Given the description of an element on the screen output the (x, y) to click on. 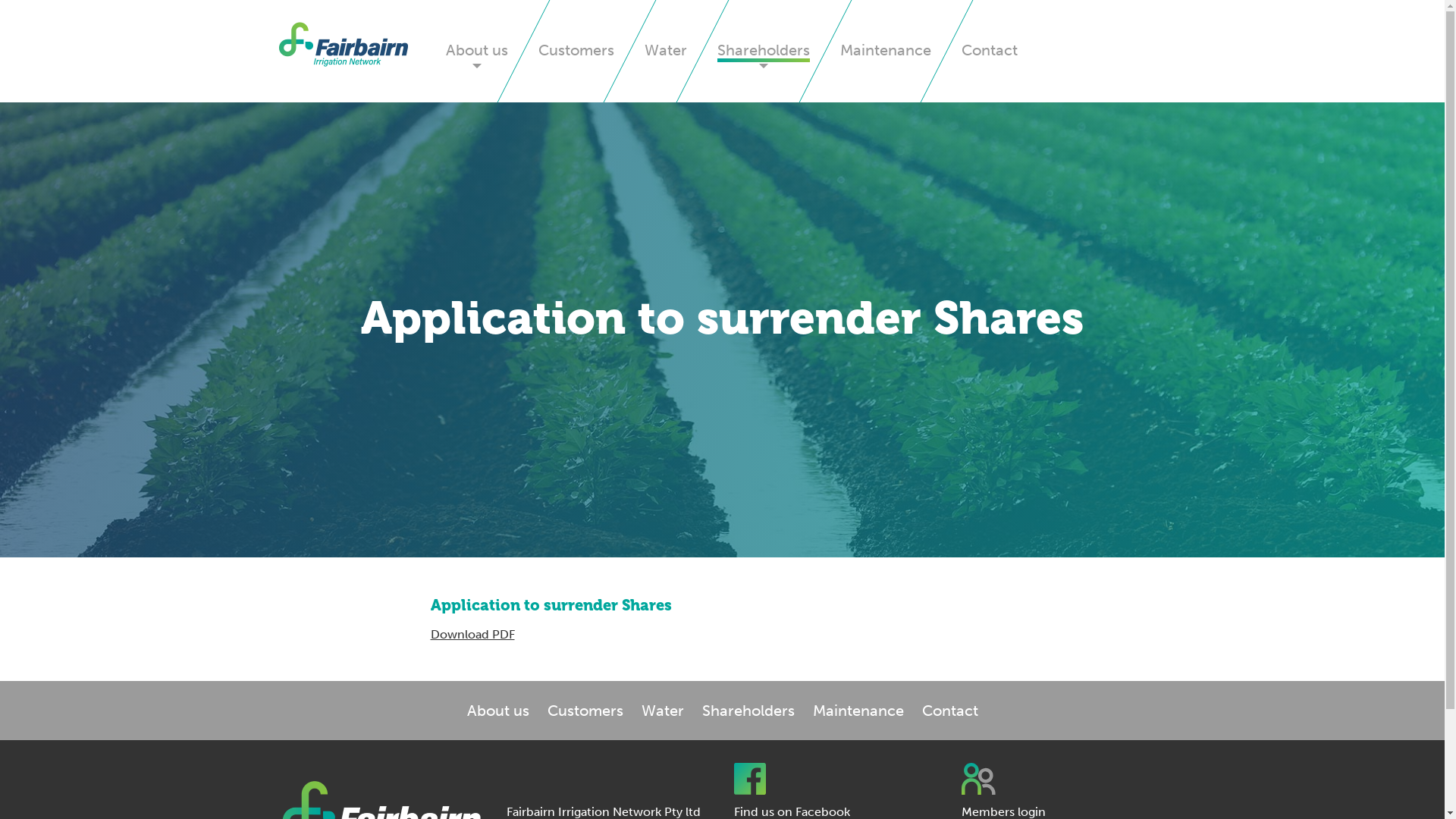
Maintenance Element type: text (858, 710)
Download PDF Element type: text (472, 634)
About us Element type: text (476, 51)
Shareholders Element type: text (763, 51)
About us Element type: text (497, 710)
Customers Element type: text (584, 710)
Contact Element type: text (949, 710)
Water Element type: text (665, 51)
Maintenance Element type: text (885, 51)
Customers Element type: text (576, 51)
Water Element type: text (662, 710)
Contact Element type: text (989, 51)
Shareholders Element type: text (748, 710)
